Given the description of an element on the screen output the (x, y) to click on. 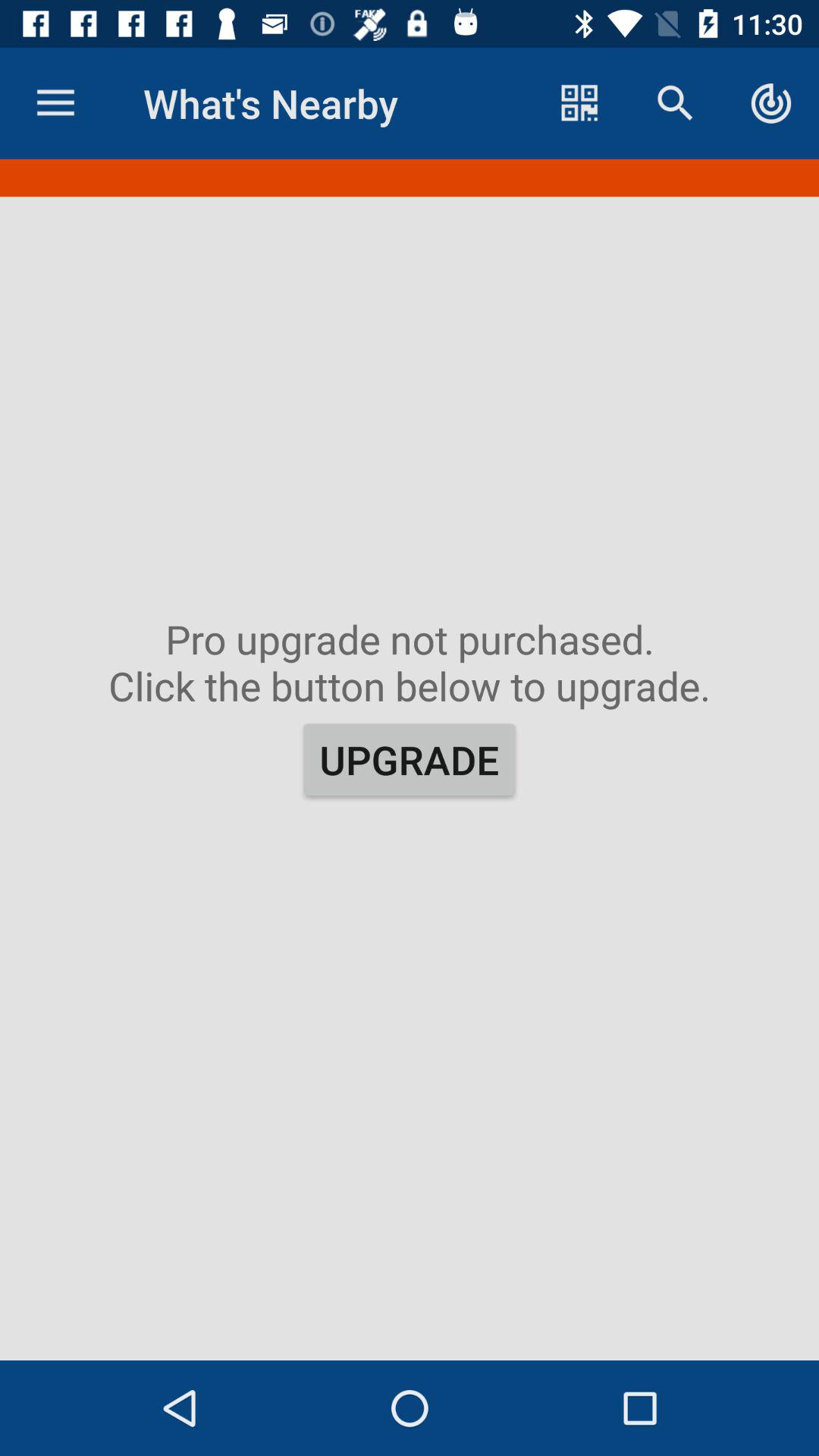
choose item next to what's nearby item (55, 103)
